Given the description of an element on the screen output the (x, y) to click on. 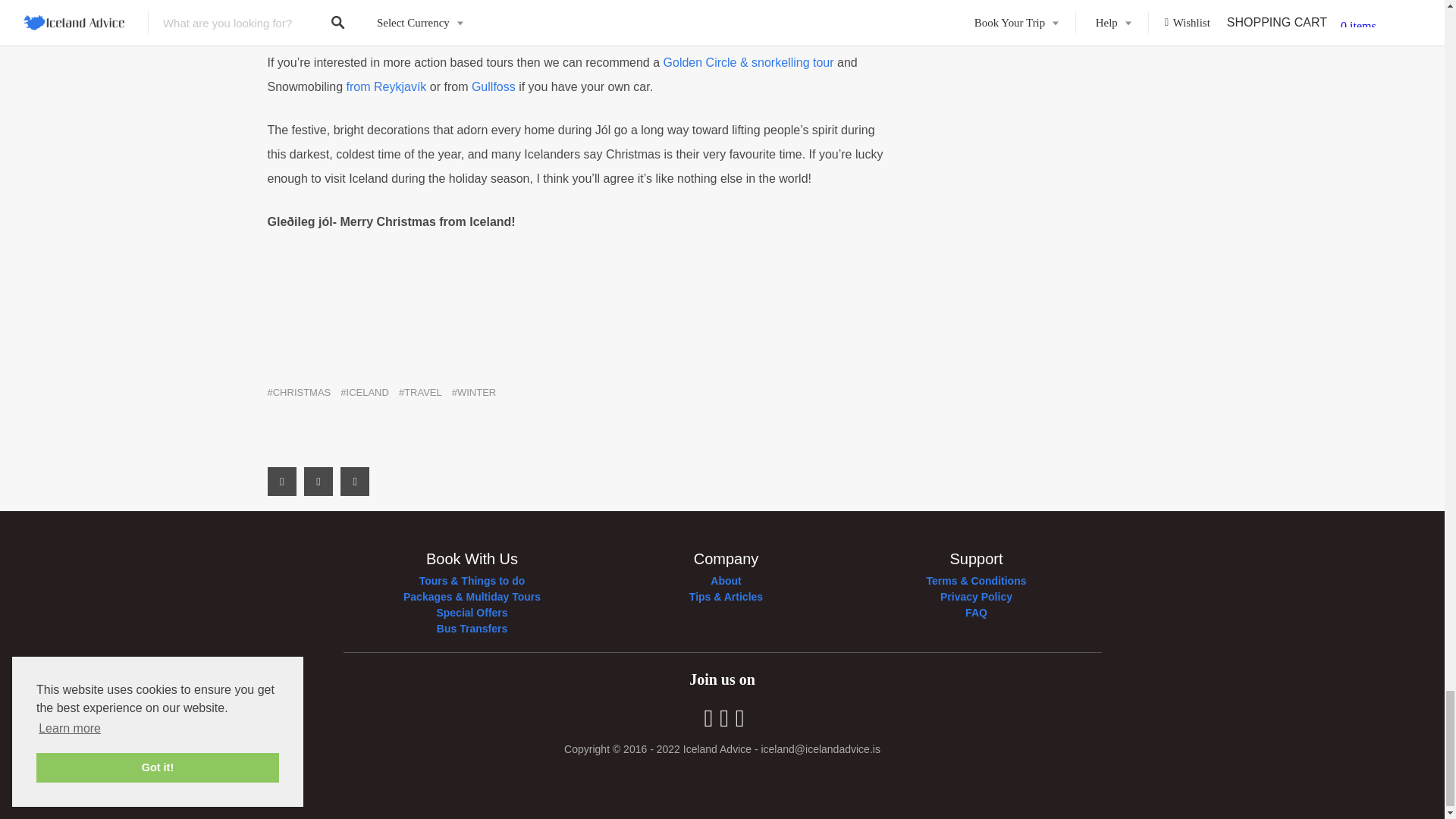
Northern Lights minibus tour (691, 19)
Gullfoss (493, 86)
